Given the description of an element on the screen output the (x, y) to click on. 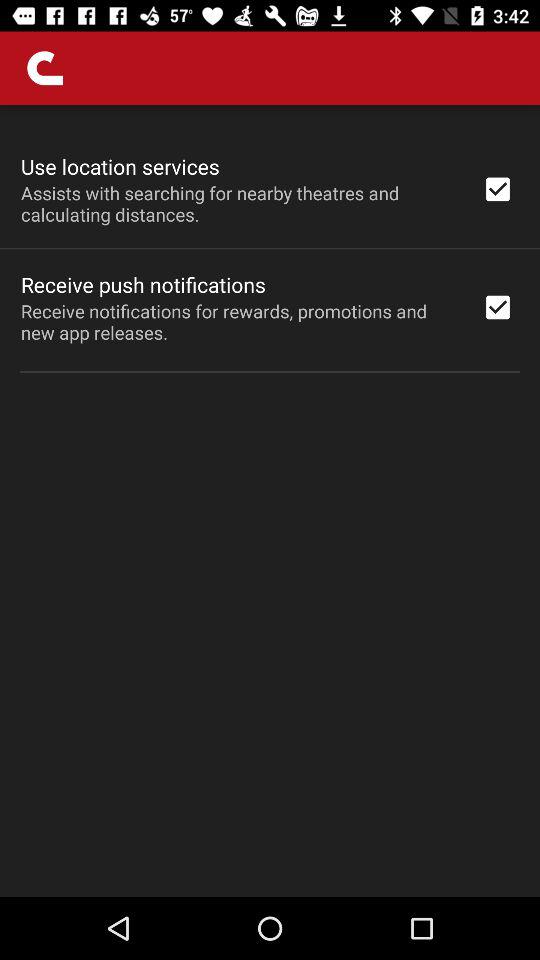
flip until assists with searching icon (238, 203)
